Given the description of an element on the screen output the (x, y) to click on. 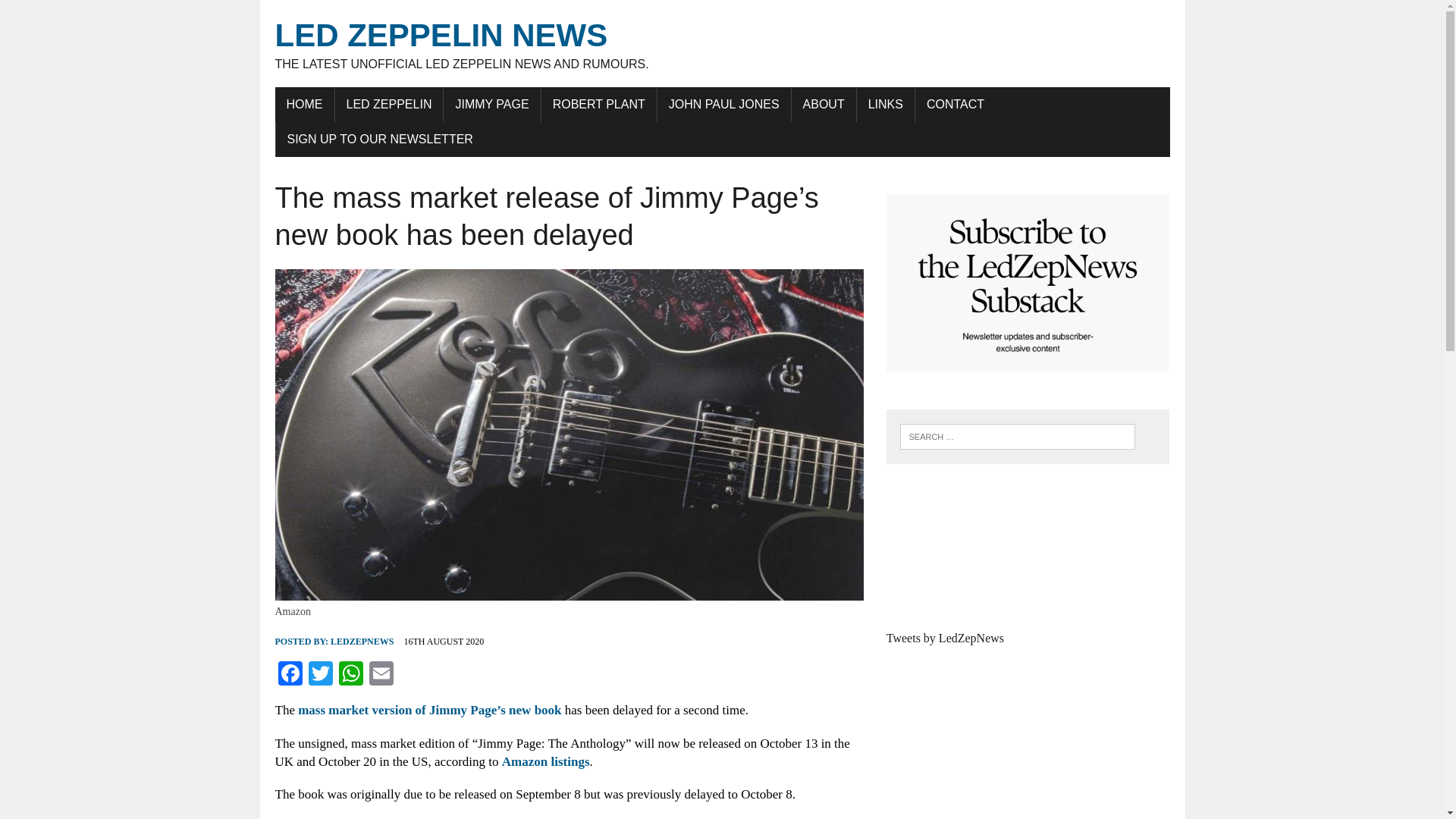
SIGN UP TO OUR NEWSLETTER (380, 139)
CONTACT (955, 104)
JOHN PAUL JONES (724, 104)
Email (380, 674)
ROBERT PLANT (598, 104)
HOME (304, 104)
LEDZEPNEWS (361, 641)
JIMMY PAGE (492, 104)
WhatsApp (349, 674)
Twitter (319, 674)
